Given the description of an element on the screen output the (x, y) to click on. 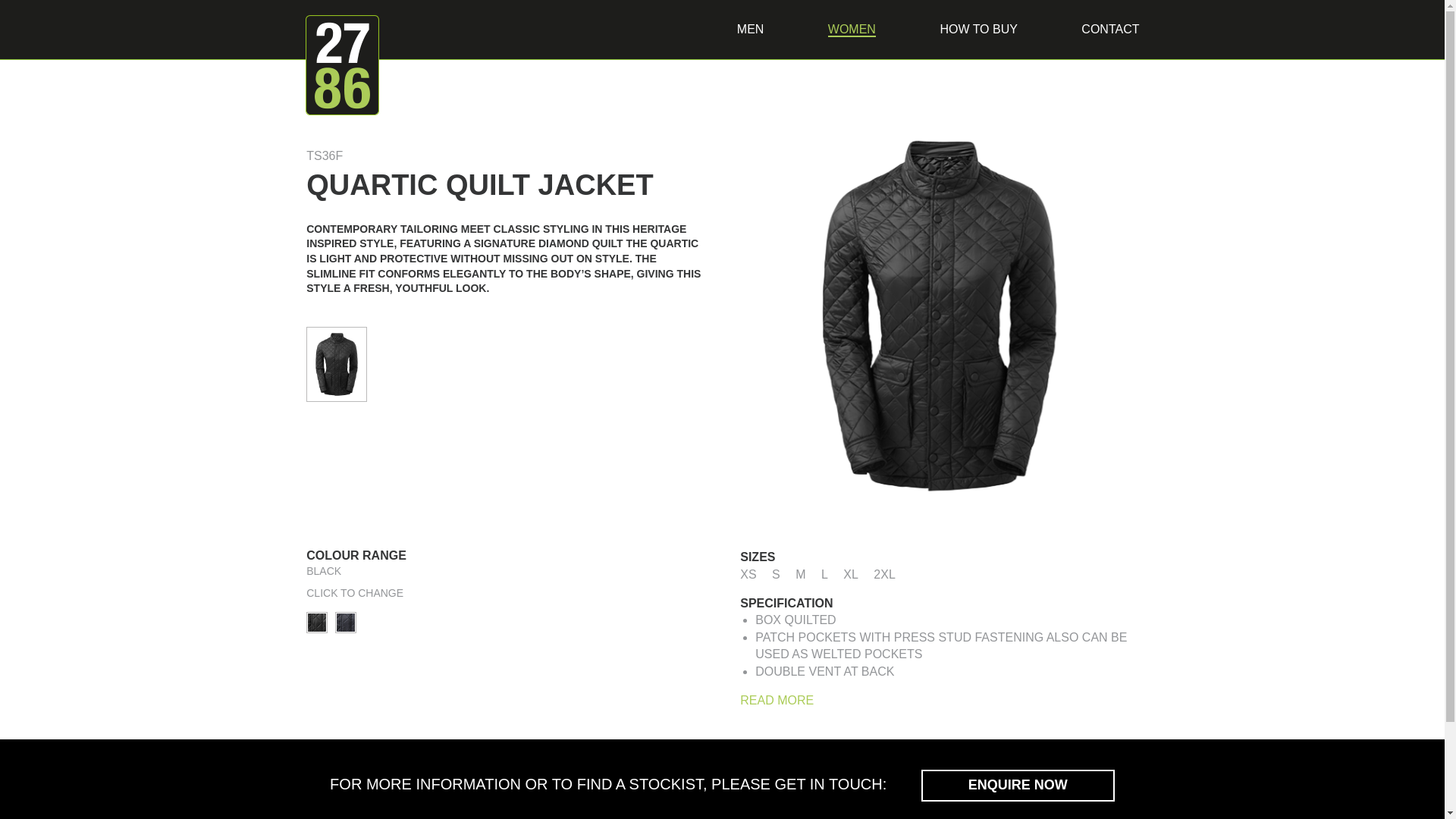
WOMEN Element type: text (851, 29)
  Element type: text (345, 622)
HOW TO BUY Element type: text (978, 28)
ENQUIRE NOW Element type: text (1017, 784)
2786 JACKETS Element type: text (341, 65)
  Element type: text (316, 622)
MEN Element type: text (750, 28)
CONTACT Element type: text (1110, 28)
READ MORE Element type: text (776, 699)
